Given the description of an element on the screen output the (x, y) to click on. 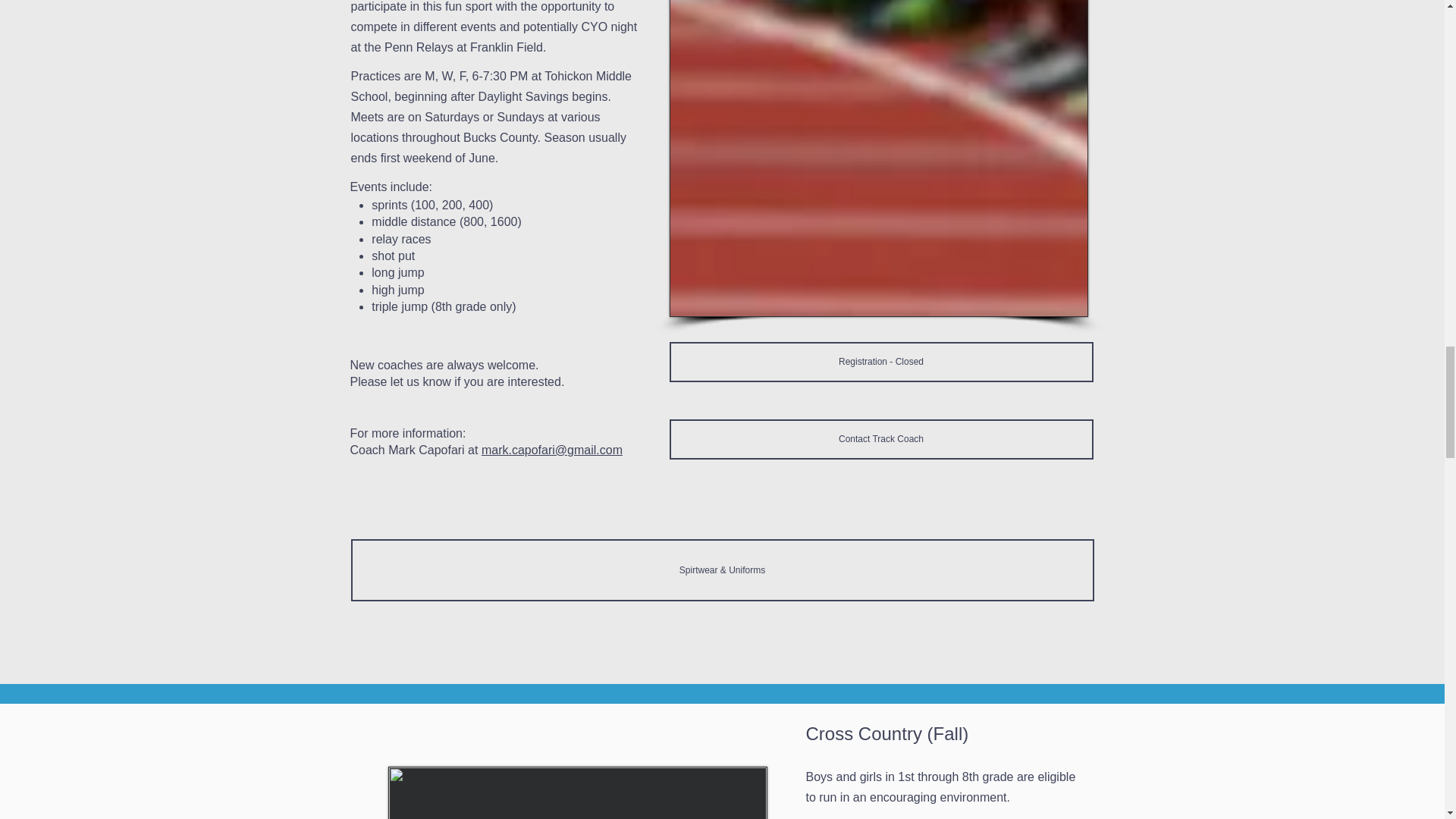
Registration - Closed (880, 362)
Contact Track Coach (880, 439)
